Given the description of an element on the screen output the (x, y) to click on. 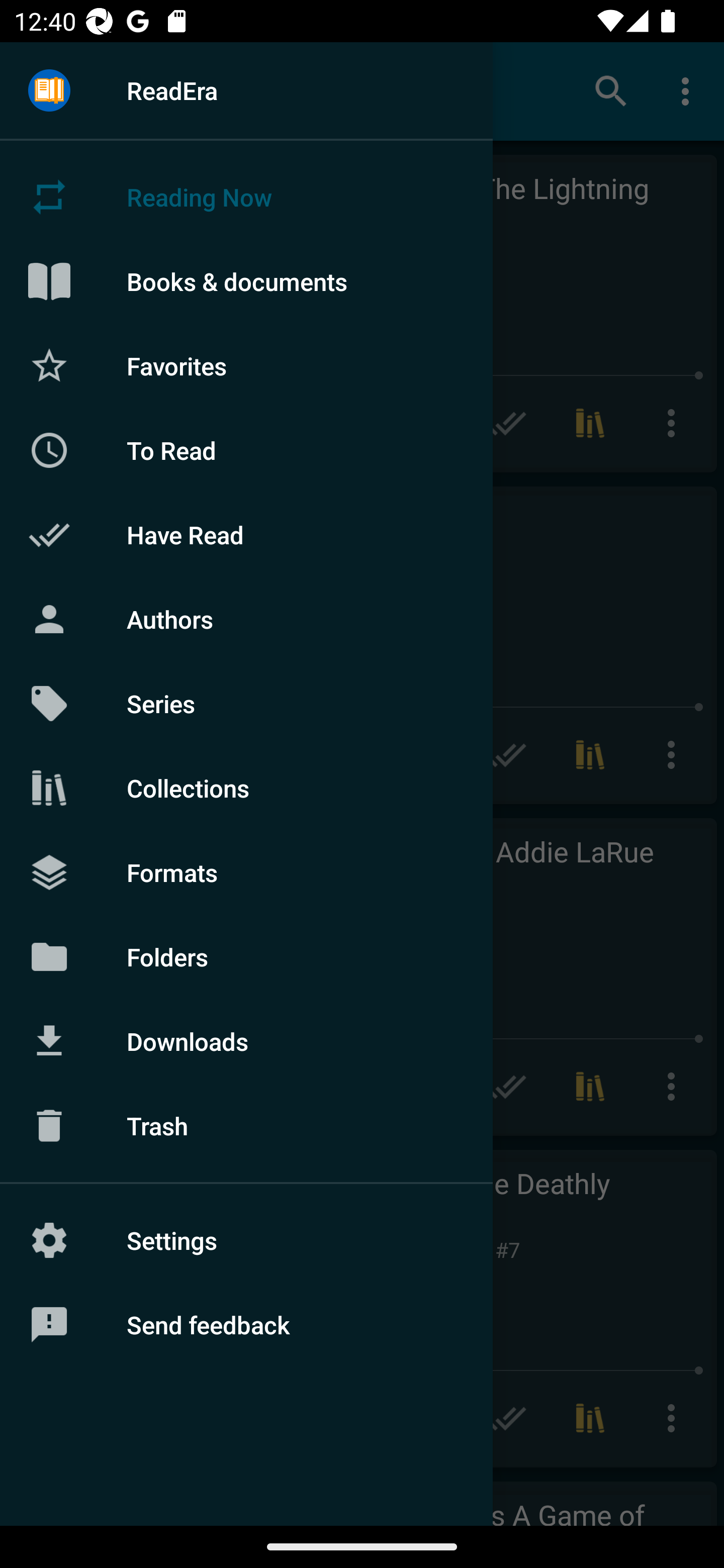
Menu (49, 91)
ReadEra (246, 89)
Search books & documents (611, 90)
More options (688, 90)
Reading Now (246, 197)
Books & documents (246, 281)
Favorites (246, 365)
To Read (246, 449)
Have Read (246, 534)
Authors (246, 619)
Series (246, 703)
Collections (246, 787)
Formats (246, 871)
Folders (246, 956)
Downloads (246, 1040)
Trash (246, 1125)
Settings (246, 1239)
Send feedback (246, 1324)
